Given the description of an element on the screen output the (x, y) to click on. 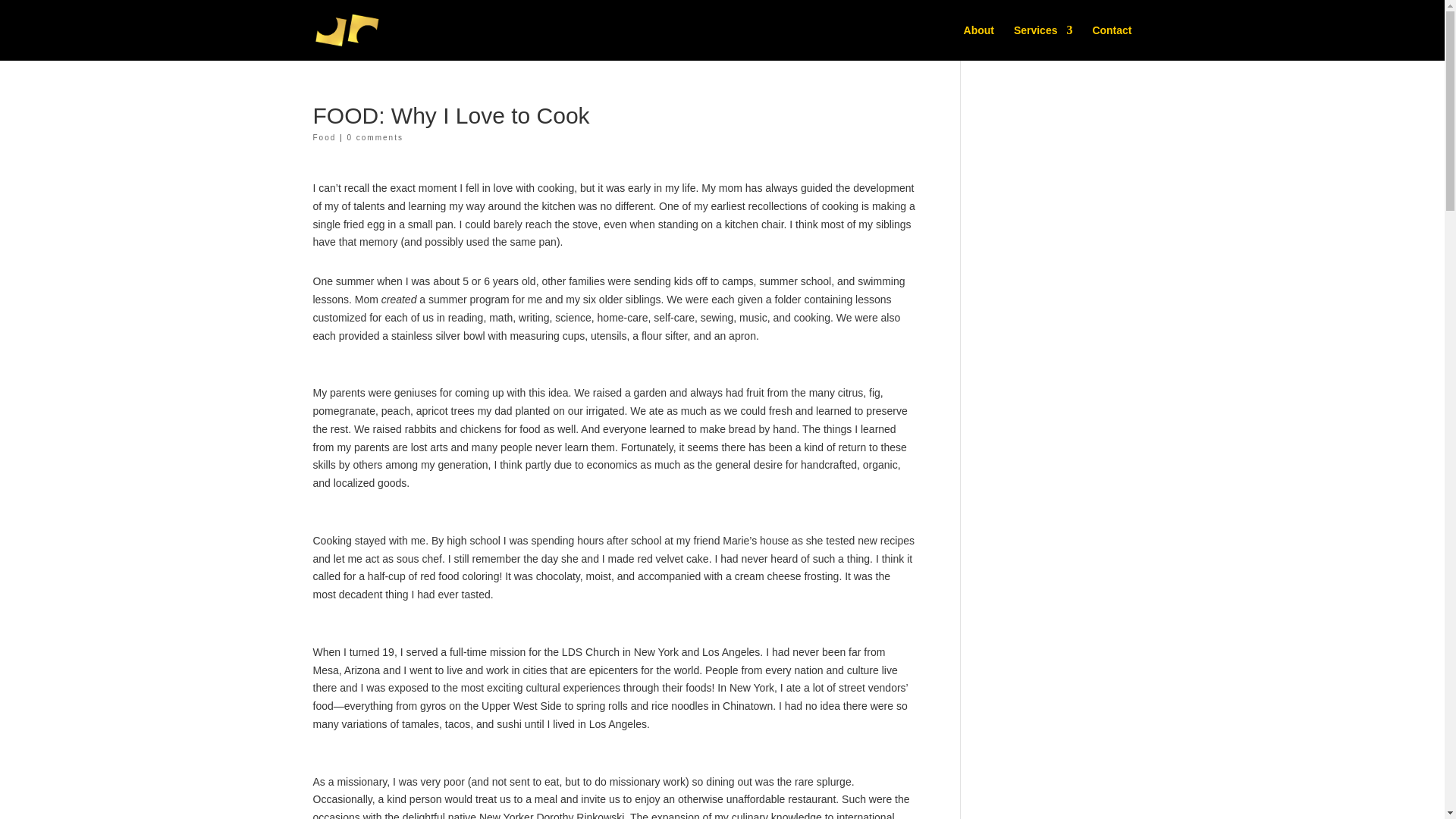
Contact (1111, 42)
0 comments (374, 137)
Services (1043, 42)
Food (324, 137)
